Given the description of an element on the screen output the (x, y) to click on. 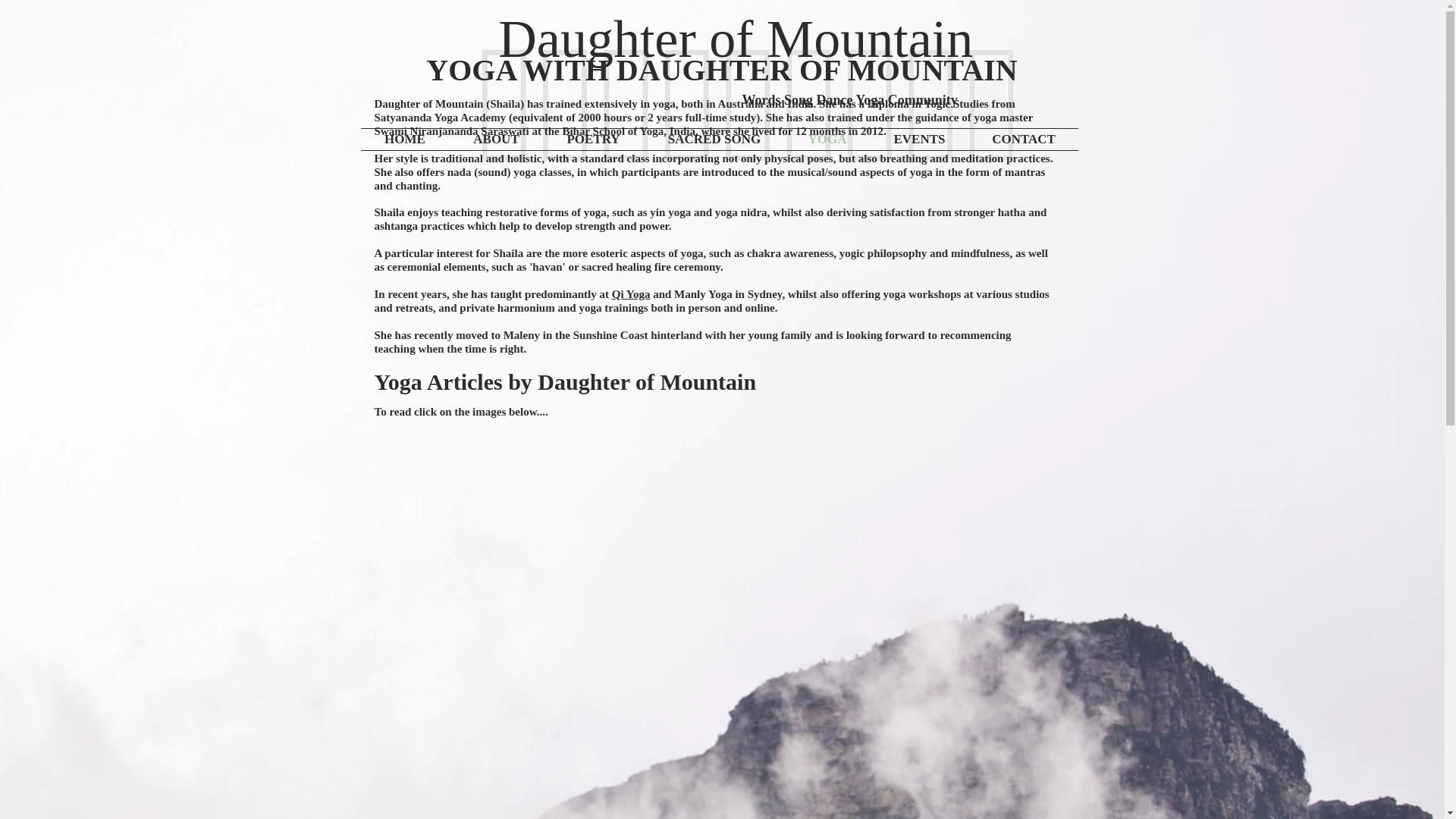
POETRY (593, 138)
CONTACT (1023, 138)
EVENTS (919, 138)
Qi Yoga (630, 294)
YOGA (827, 138)
SACRED SONG (713, 138)
ABOUT (495, 138)
HOME (405, 138)
